Given the description of an element on the screen output the (x, y) to click on. 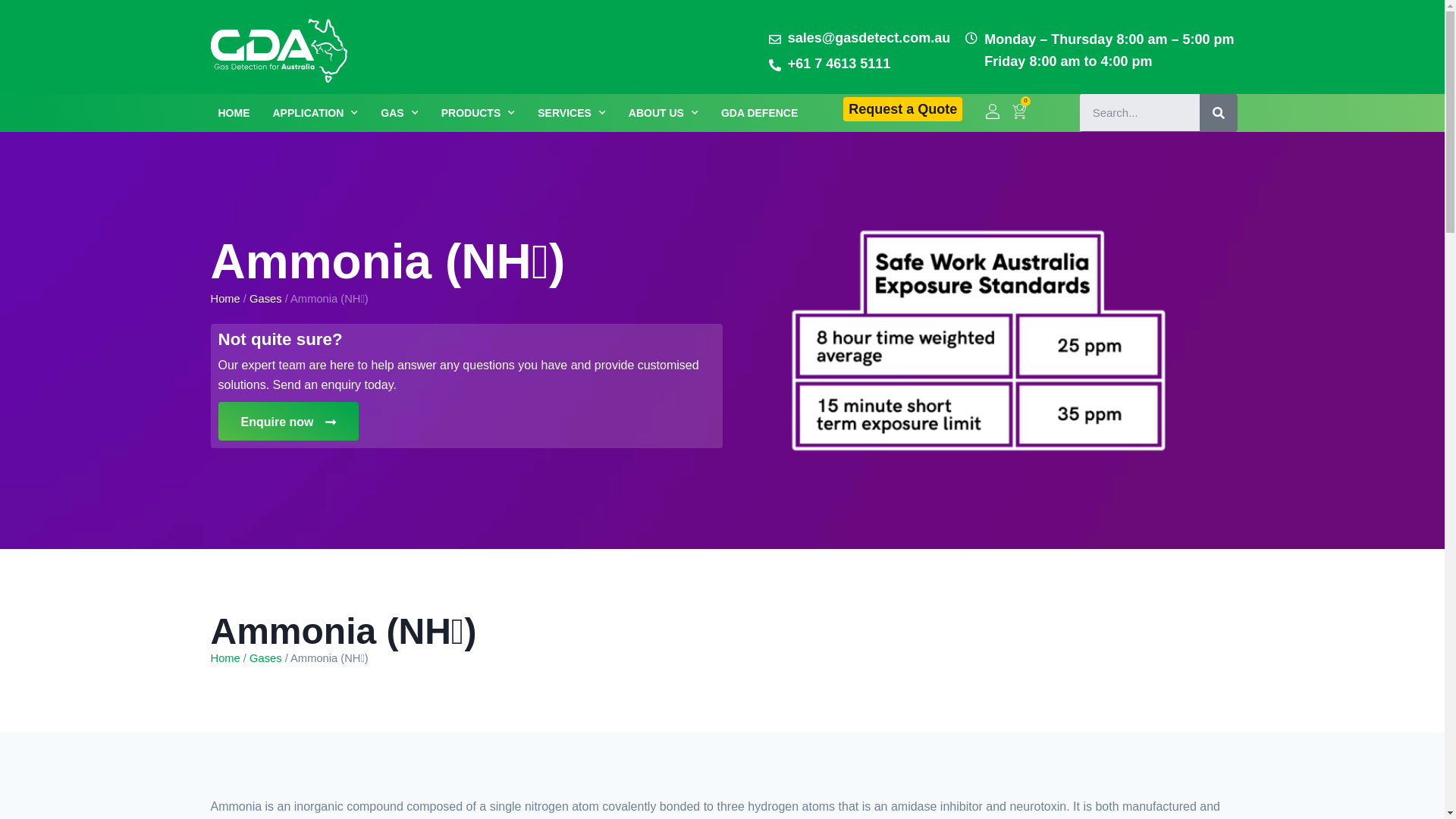
GDA DEFENCE Element type: text (759, 112)
ABOUT US Element type: text (663, 112)
Home Element type: text (225, 298)
+61 7 4613 5111 Element type: text (859, 64)
0 Element type: text (1018, 114)
Home Element type: text (225, 658)
APPLICATION Element type: text (314, 112)
2.table Element type: hover (977, 340)
Gases Element type: text (265, 298)
SERVICES Element type: text (571, 112)
HOME Element type: text (233, 112)
GAS Element type: text (399, 112)
PRODUCTS Element type: text (478, 112)
Gases Element type: text (265, 658)
Enquire now Element type: text (288, 420)
sales@gasdetect.com.au Element type: text (859, 38)
Request a Quote Element type: text (902, 109)
